Given the description of an element on the screen output the (x, y) to click on. 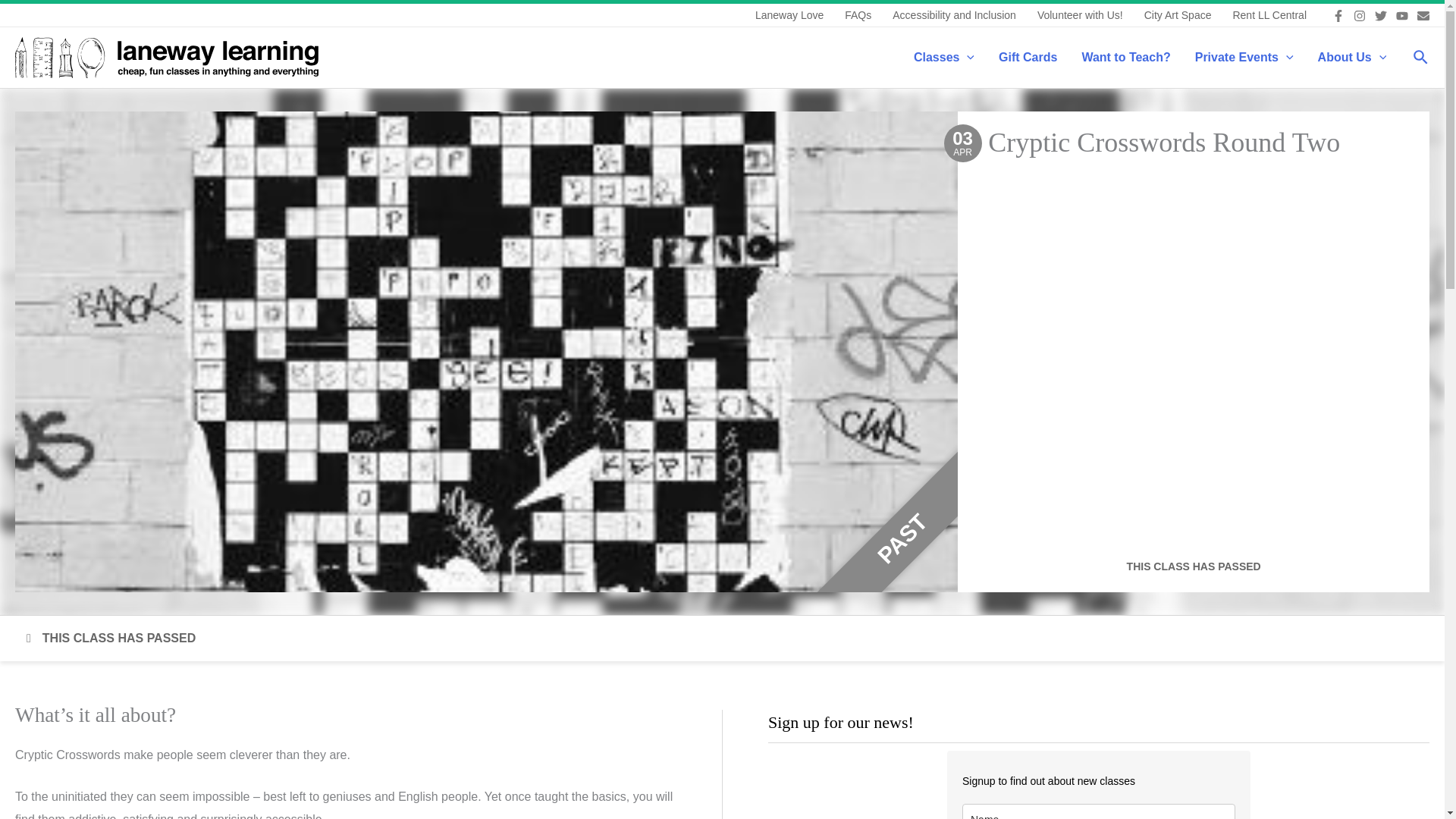
Gift Cards (1027, 57)
Classes (944, 57)
FAQs (858, 15)
Laneway Love (789, 15)
Private Events (1244, 57)
Accessibility and Inclusion (954, 15)
Rent LL Central (1269, 15)
Volunteer with Us! (1080, 15)
Want to Teach? (1125, 57)
City Art Space (1178, 15)
